Given the description of an element on the screen output the (x, y) to click on. 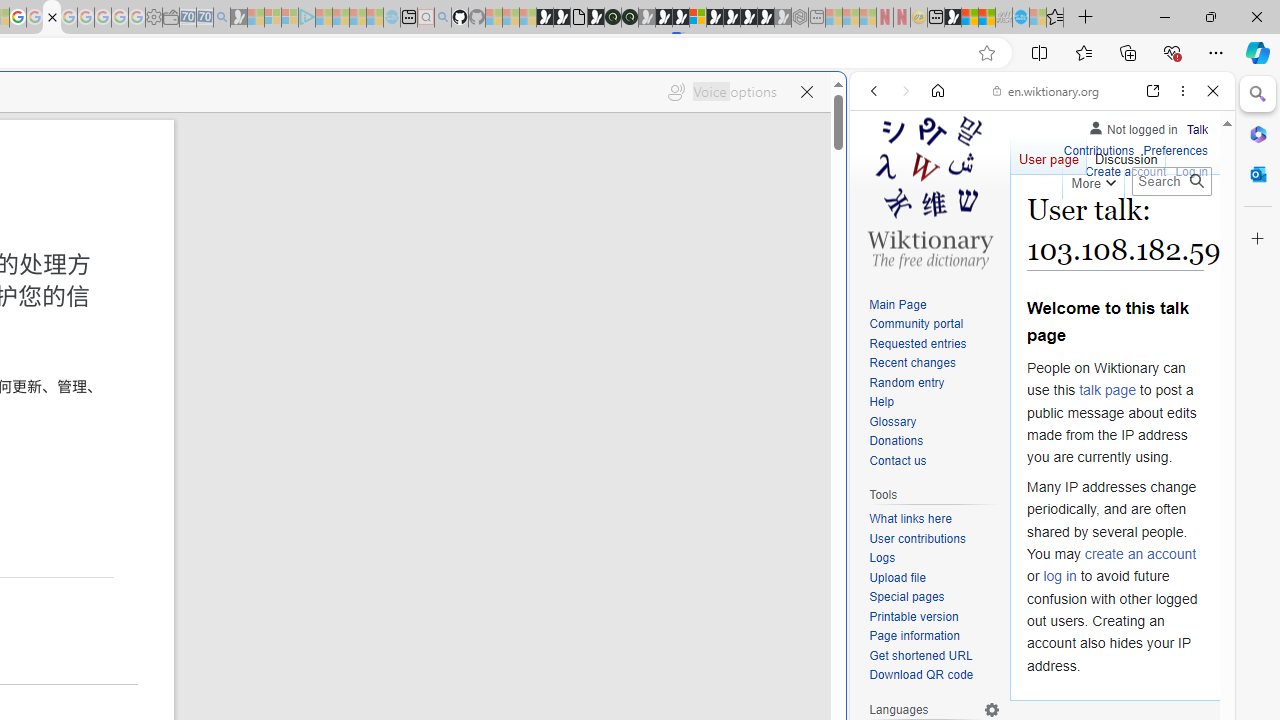
Settings - Sleeping (153, 17)
log in (1059, 576)
Class: b_serphb (1190, 229)
Contributions (1098, 148)
Search Wiktionary (1171, 181)
Sign in to your account (697, 17)
Get shortened URL (920, 655)
Contributions (1098, 151)
